Given the description of an element on the screen output the (x, y) to click on. 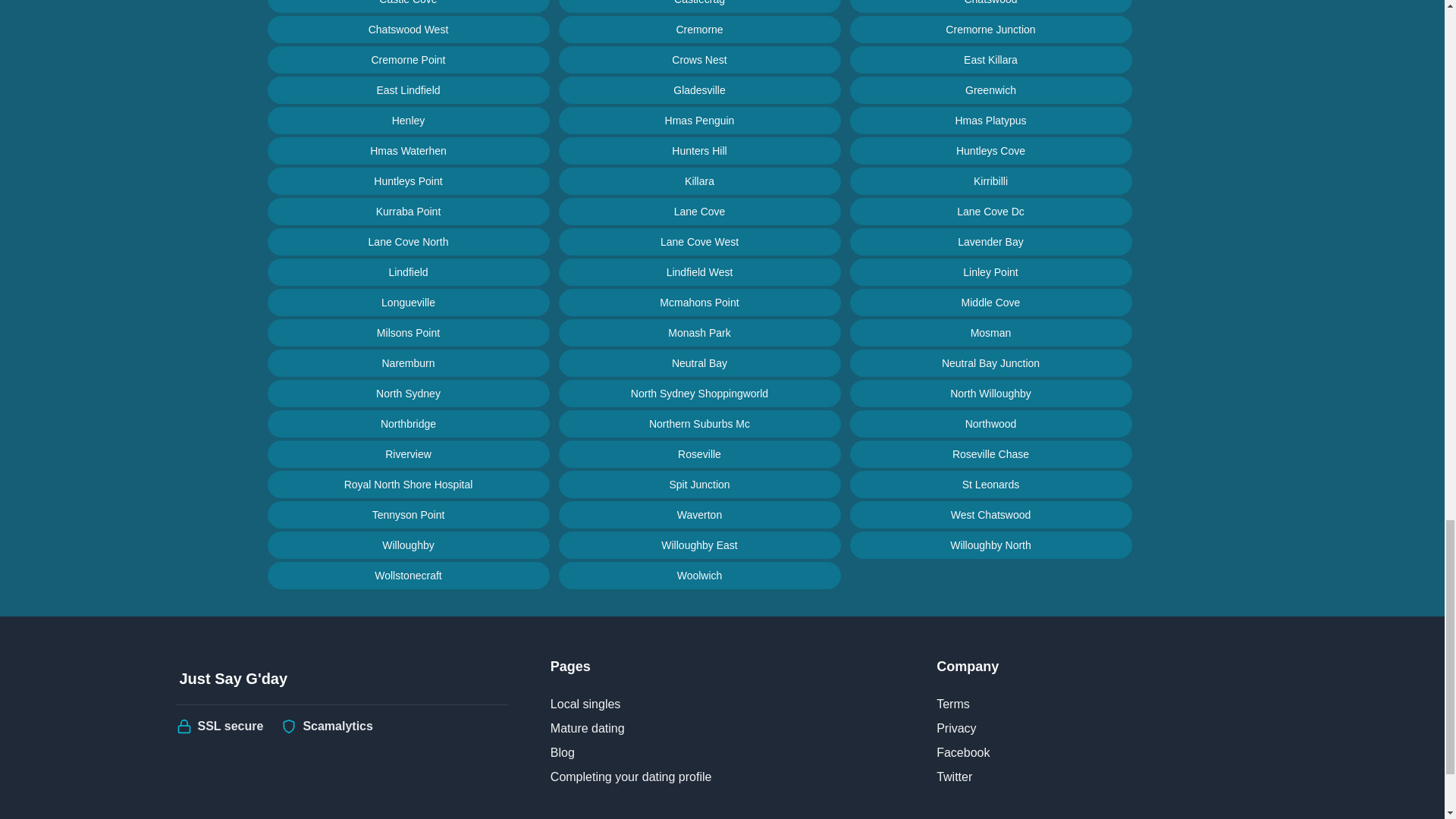
Castlecrag (698, 6)
Singles in Castlecrag (698, 6)
Gladesville (698, 90)
Huntleys Cove (989, 150)
Hmas Waterhen (407, 150)
Singles in Henley (407, 120)
Crows Nest (698, 59)
Singles in East Killara (989, 59)
Kurraba Point (407, 211)
Singles in Greenwich (989, 90)
Cremorne Junction (989, 29)
Singles in Chatswood (989, 6)
East Killara (989, 59)
Castle Cove (407, 6)
Singles in Gladesville (698, 90)
